Given the description of an element on the screen output the (x, y) to click on. 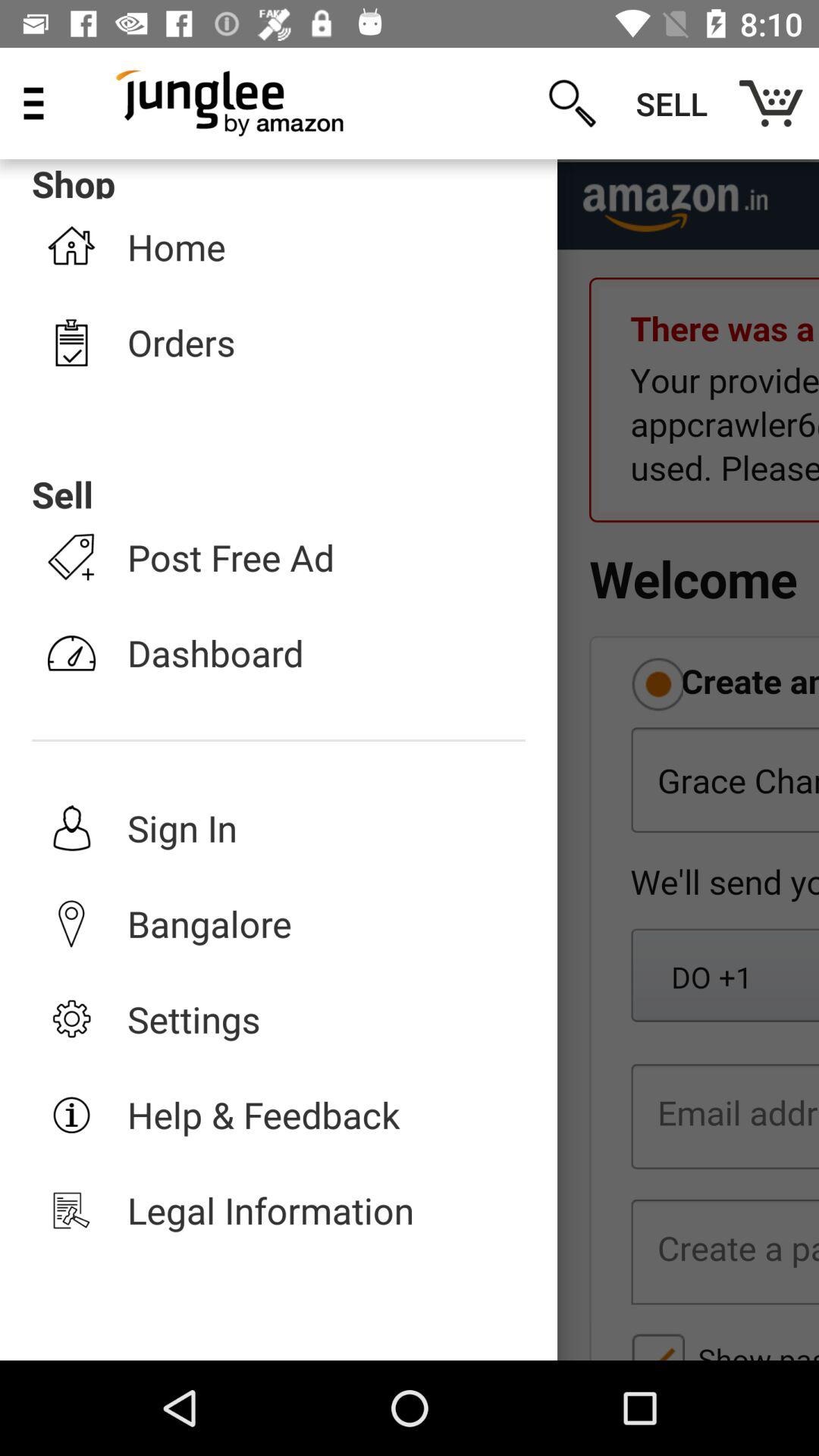
turn off icon next to shop (571, 103)
